Given the description of an element on the screen output the (x, y) to click on. 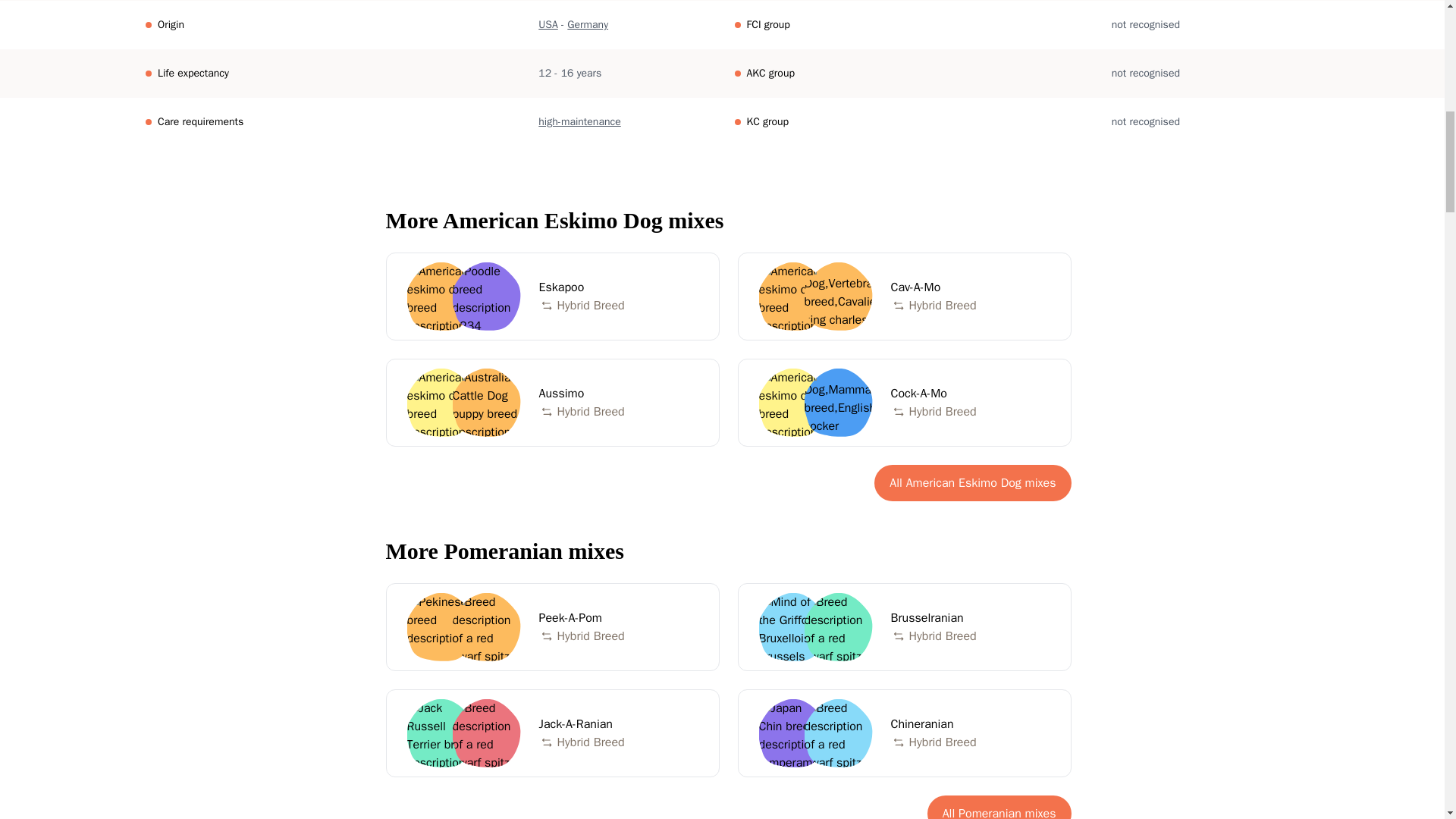
All Pomeranian mixes (903, 402)
Cavalier King Charles Spaniel (999, 807)
American Eskimo Dog breed description (552, 296)
